Given the description of an element on the screen output the (x, y) to click on. 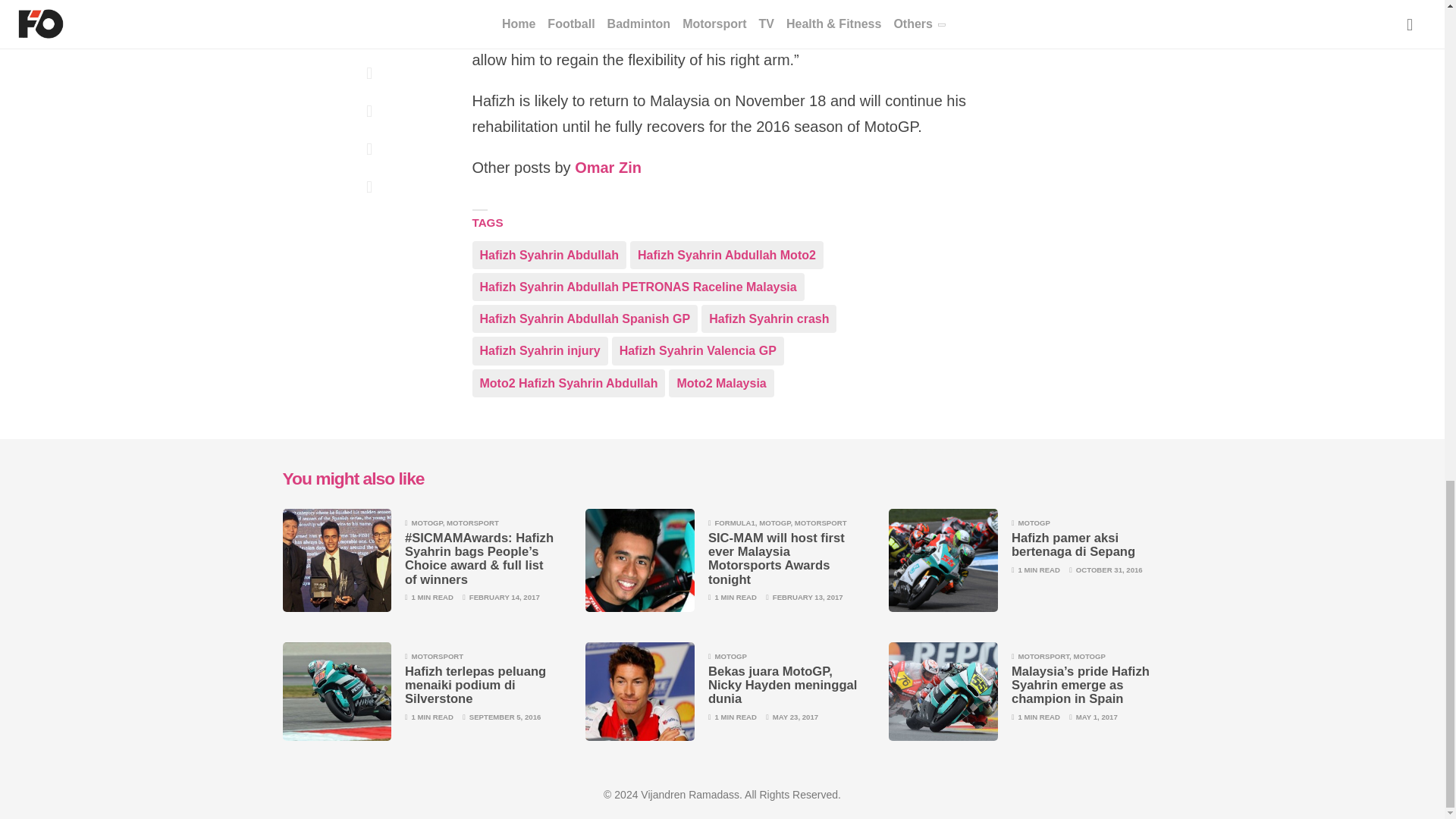
Hafizh Syahrin Valencia GP (697, 350)
Hafizh Syahrin injury (539, 350)
Hafizh Syahrin Abdullah Moto2 (727, 254)
Hafizh Syahrin Abdullah Spanish GP (584, 318)
Posts by Omar Zin (608, 168)
Omar Zin (608, 168)
Hafizh Syahrin crash (768, 318)
Hafizh Syahrin Abdullah (548, 254)
Hafizh Syahrin Abdullah PETRONAS Raceline Malaysia (637, 286)
